Given the description of an element on the screen output the (x, y) to click on. 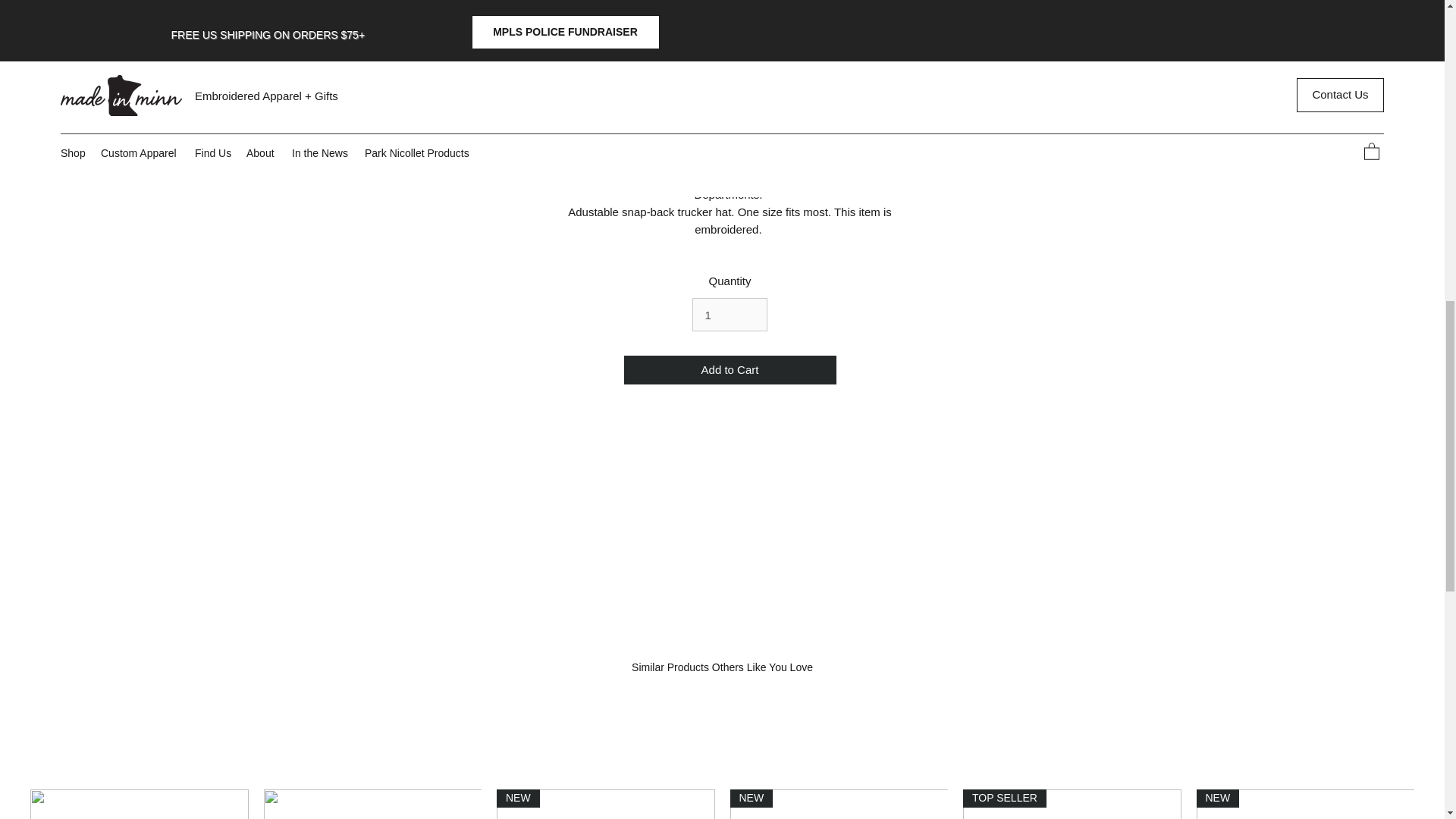
1 (730, 314)
NEW (838, 804)
Add to Cart (729, 369)
NEW (605, 804)
